Given the description of an element on the screen output the (x, y) to click on. 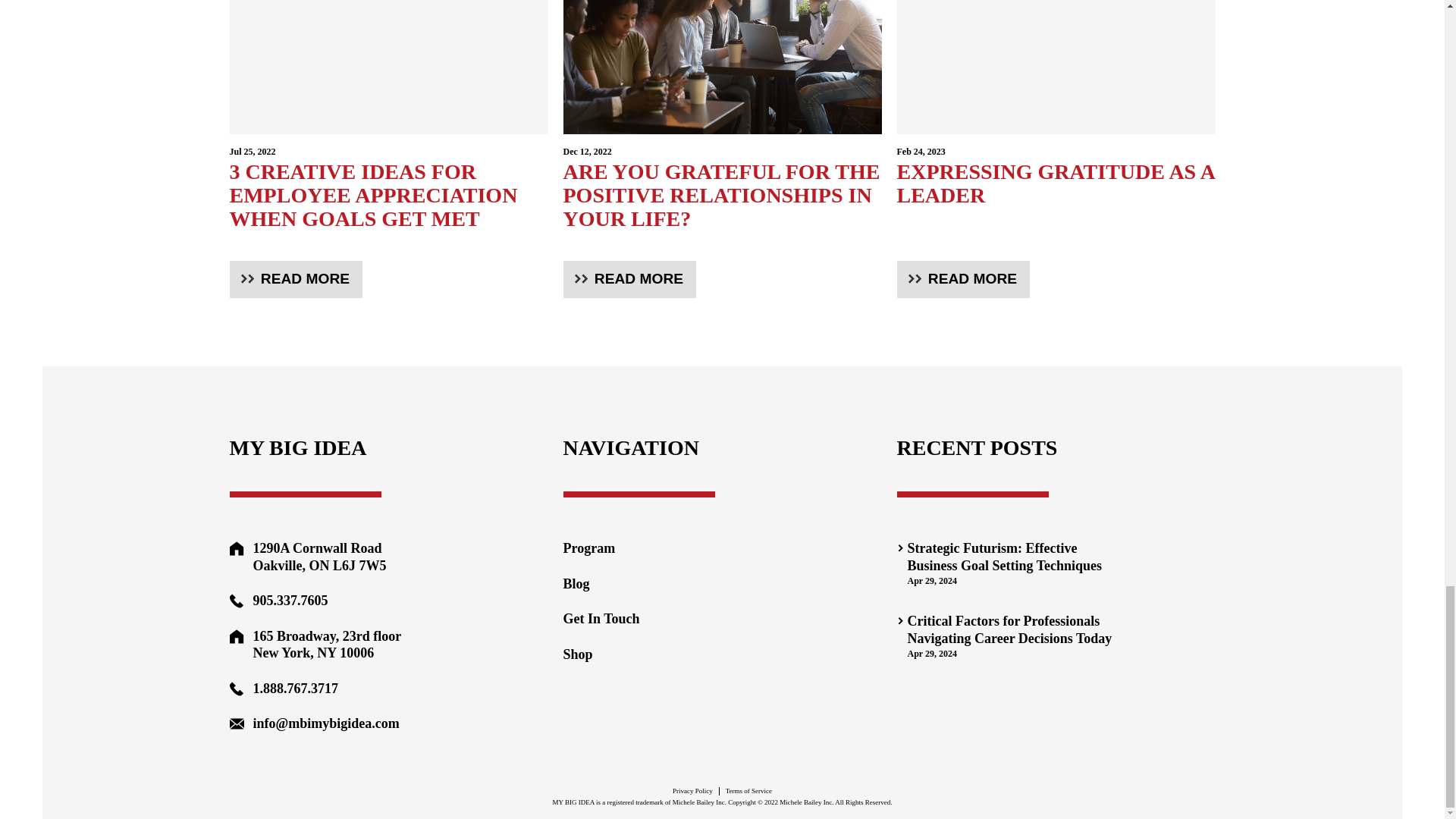
1.888.767.3717 (296, 688)
READ MORE (628, 279)
READ MORE (295, 279)
Program (600, 548)
READ MORE (1055, 177)
905.337.7605 (962, 279)
